Given the description of an element on the screen output the (x, y) to click on. 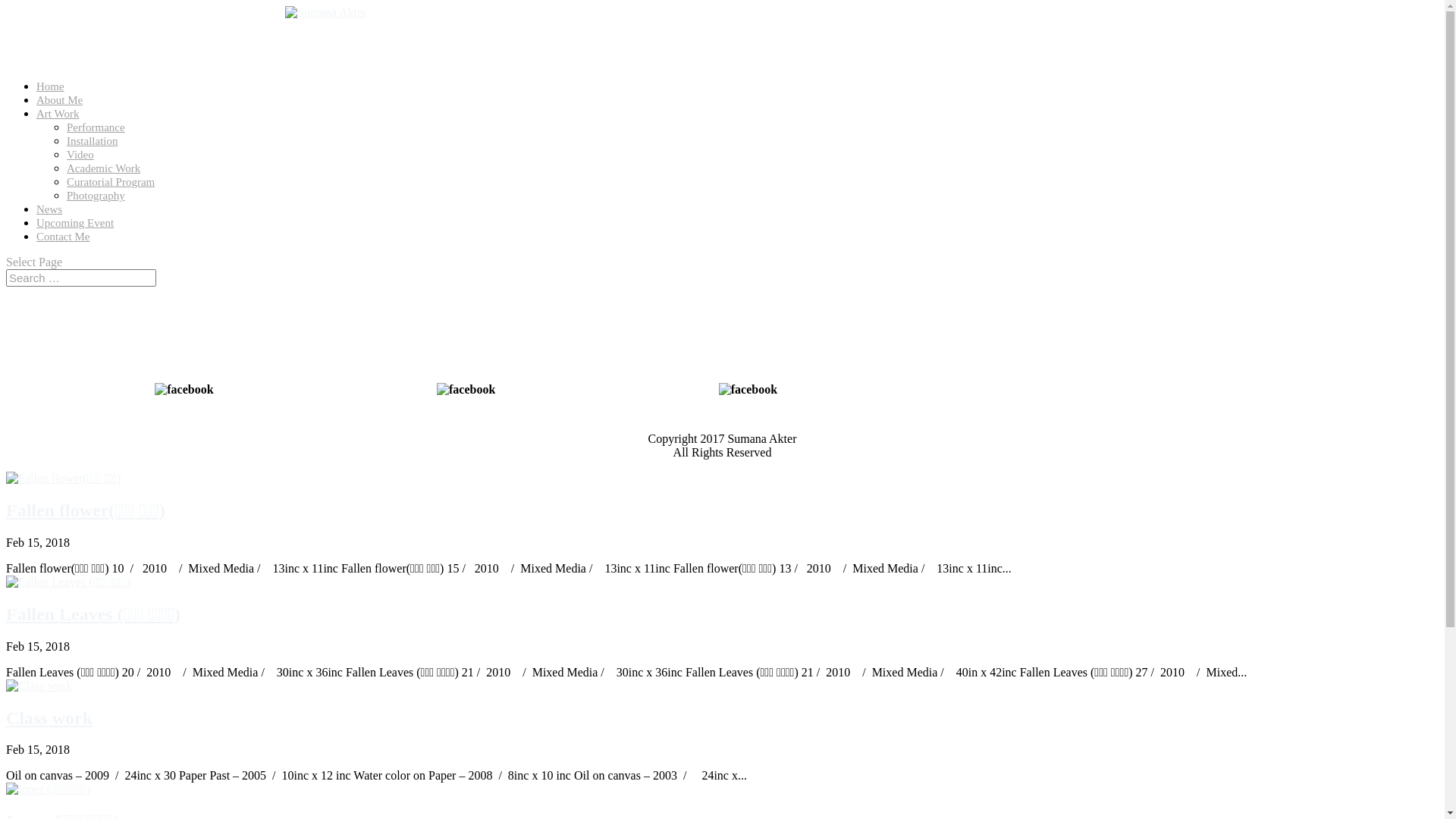
Class work Element type: text (49, 718)
Upcoming Event Element type: text (74, 227)
Search for: Element type: hover (81, 277)
Academic Work Element type: text (103, 168)
Art Work Element type: text (57, 118)
Contact Me Element type: text (62, 241)
Video Element type: text (80, 154)
News Element type: text (49, 214)
Performance Element type: text (95, 127)
About Me Element type: text (59, 105)
Photography Element type: text (95, 195)
Curatorial Program Element type: text (110, 181)
Installation Element type: text (92, 140)
Home Element type: text (50, 91)
